Given the description of an element on the screen output the (x, y) to click on. 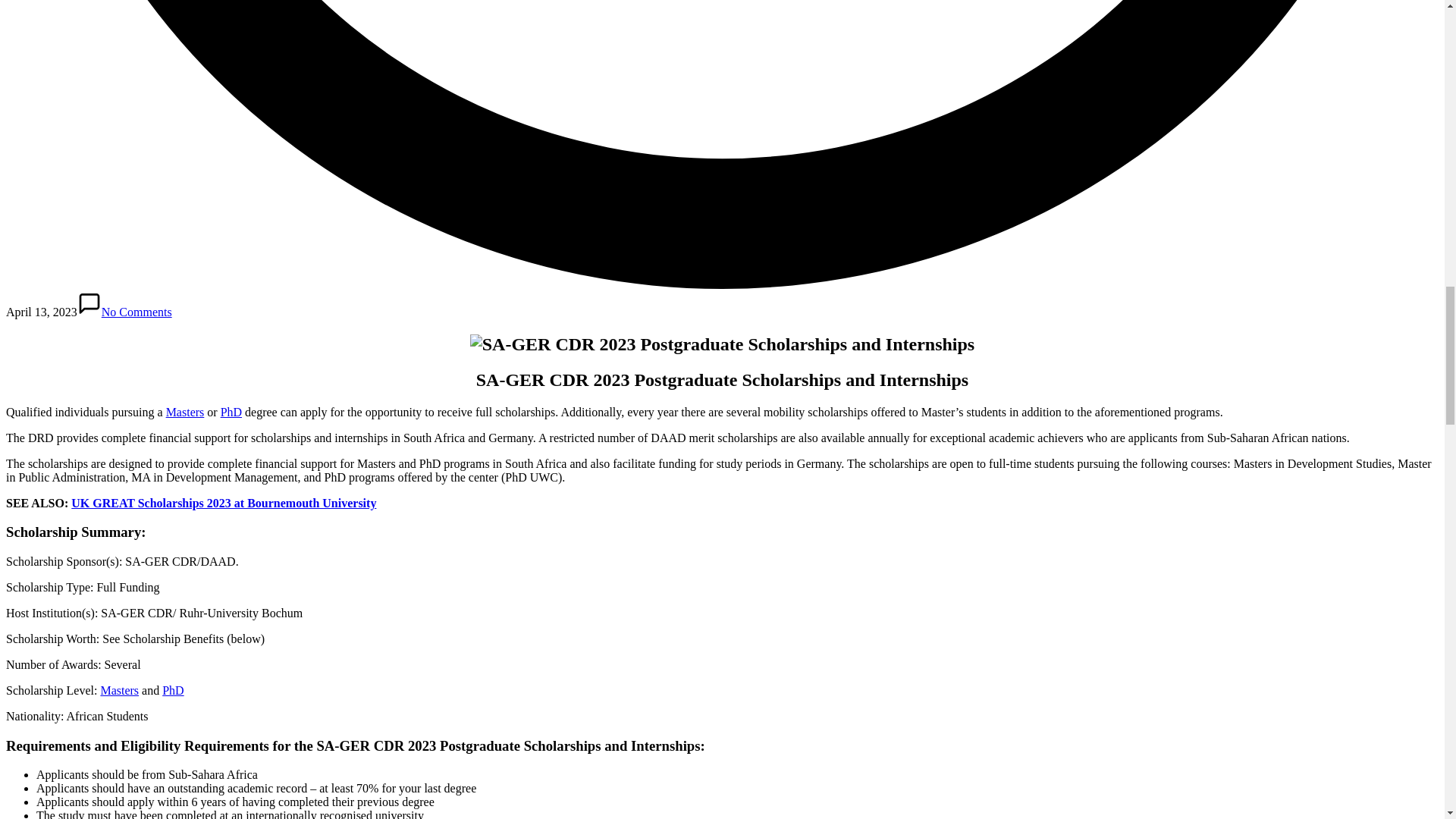
No Comments (124, 311)
Masters (185, 411)
UK GREAT Scholarships 2023 at Bournemouth University (223, 502)
PhD (231, 411)
Masters (119, 689)
UK GREAT Scholarships 2023 at Bournemouth University (223, 502)
SA-GER CDR 2023 Postgraduate Scholarships and Internships (722, 344)
PhD (172, 689)
